Given the description of an element on the screen output the (x, y) to click on. 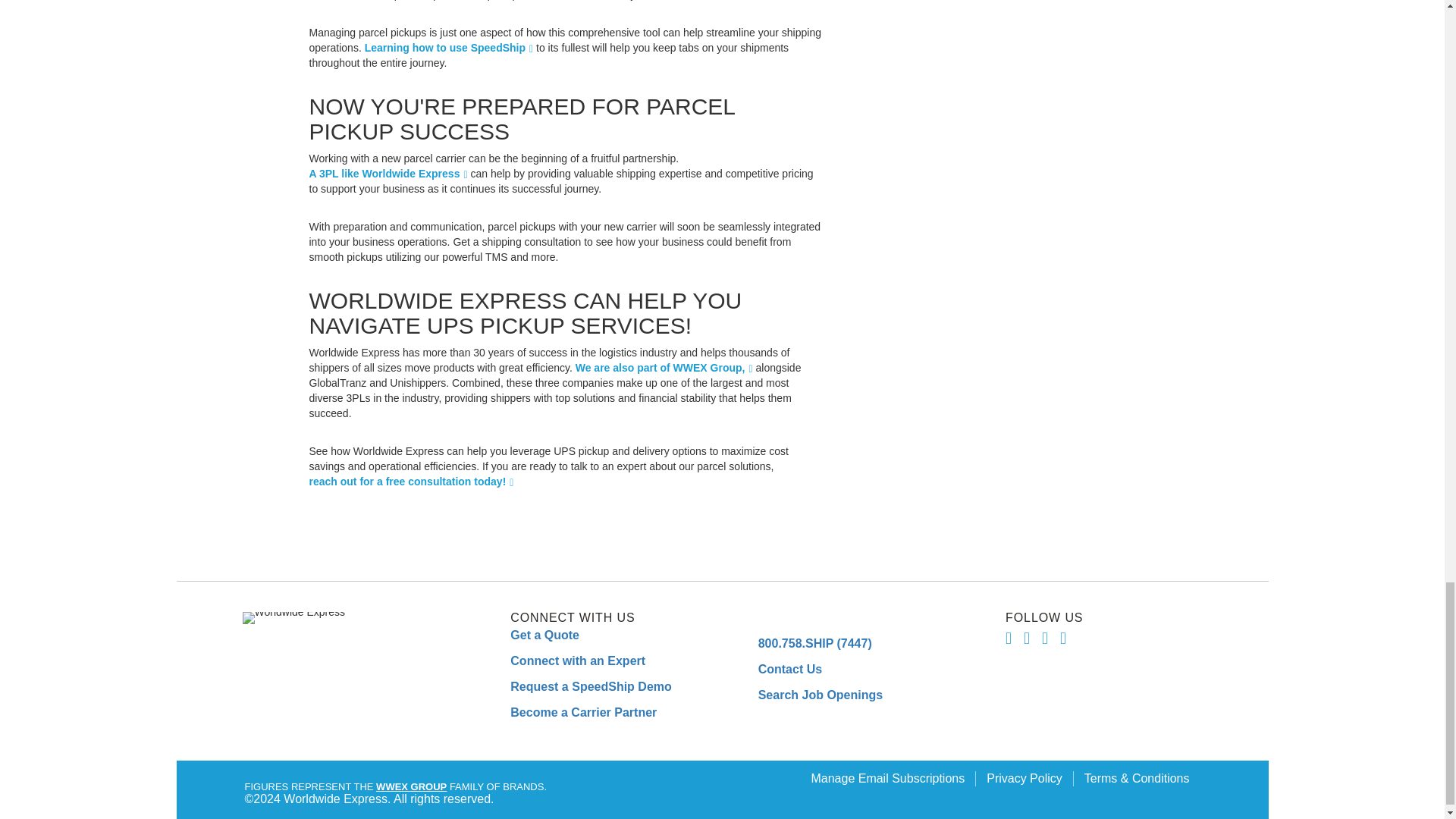
Worldwide Express (294, 617)
